Given the description of an element on the screen output the (x, y) to click on. 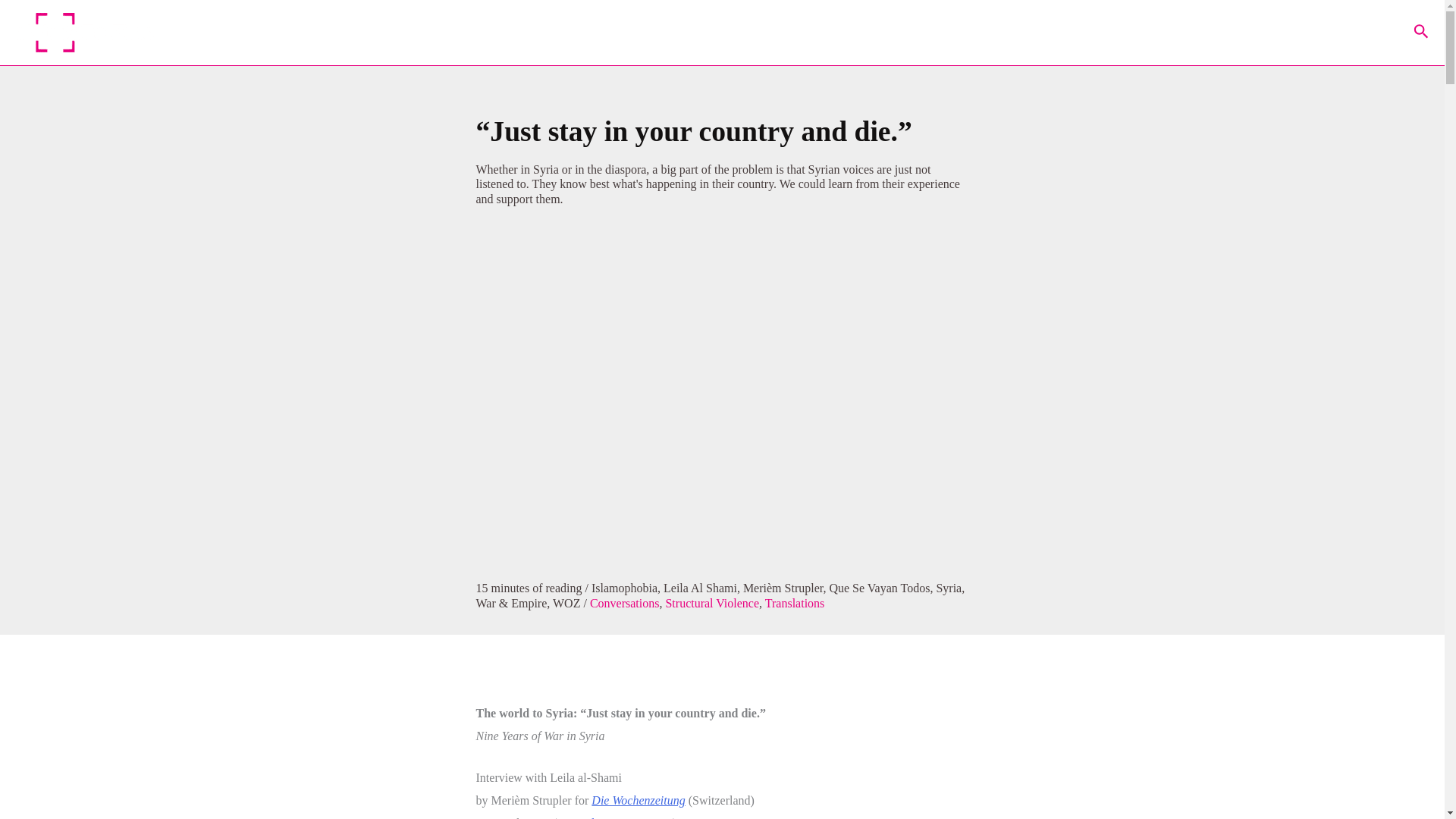
index (1322, 32)
